Given the description of an element on the screen output the (x, y) to click on. 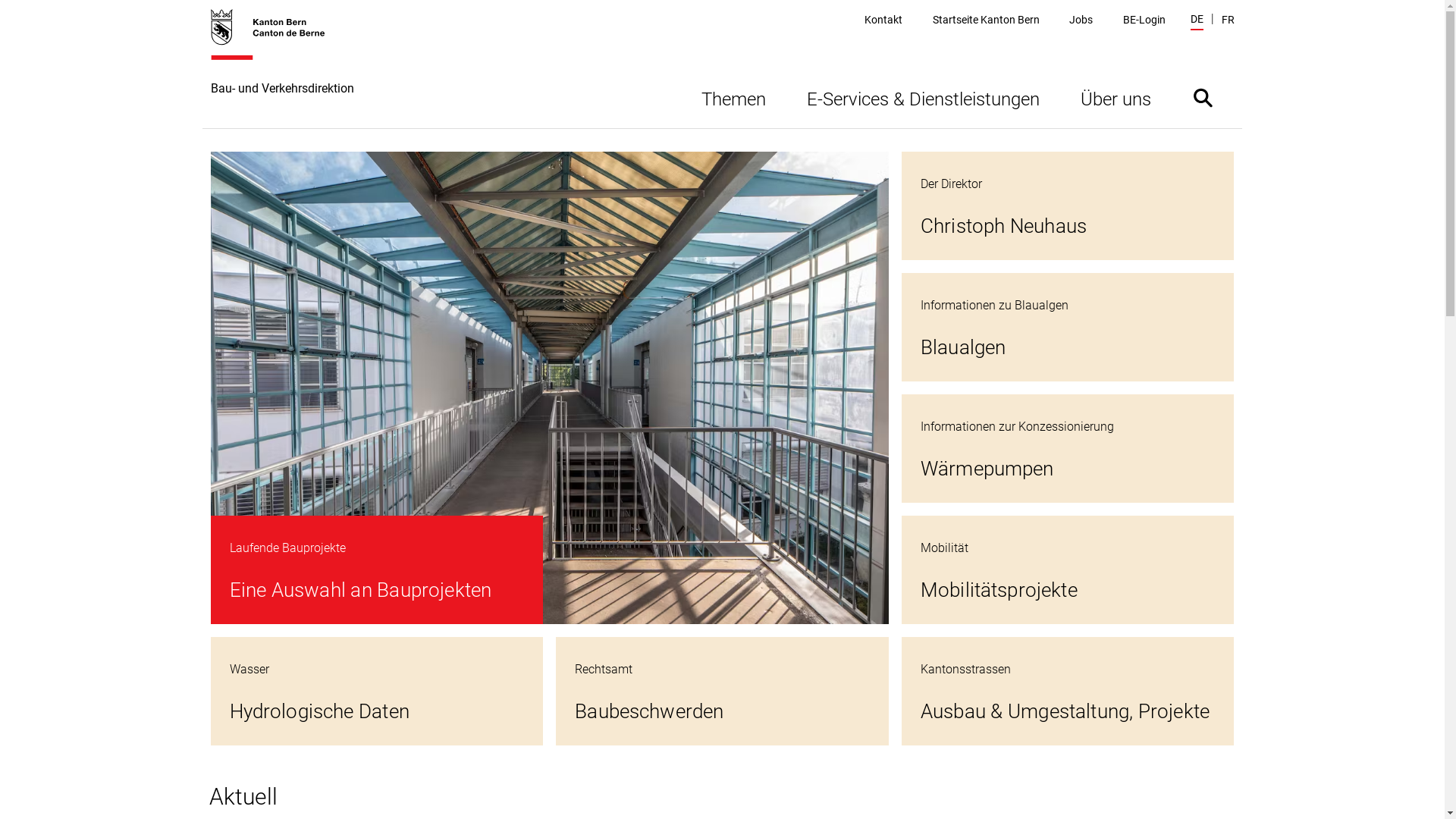
Kontakt Element type: text (883, 19)
Christoph Neuhaus
Der Direktor Element type: text (1067, 205)
Suche ein- oder ausblenden Element type: text (1201, 96)
DE Element type: text (1196, 21)
Ausbau & Umgestaltung, Projekte
Kantonsstrassen Element type: text (1067, 691)
Themen Element type: text (733, 96)
BE-Login Element type: text (1144, 19)
Baubeschwerden
Rechtsamt Element type: text (721, 691)
FR Element type: text (1226, 19)
E-Services & Dienstleistungen Element type: text (922, 96)
Hydrologische Daten
Wasser Element type: text (376, 691)
Blaualgen
Informationen zu Blaualgen Element type: text (1067, 327)
Startseite Kanton Bern Element type: text (985, 19)
Eine Auswahl an Bauprojekten
Laufende Bauprojekte Element type: text (549, 387)
Jobs Element type: text (1080, 19)
Bau- und Verkehrsdirektion Element type: text (282, 68)
